Given the description of an element on the screen output the (x, y) to click on. 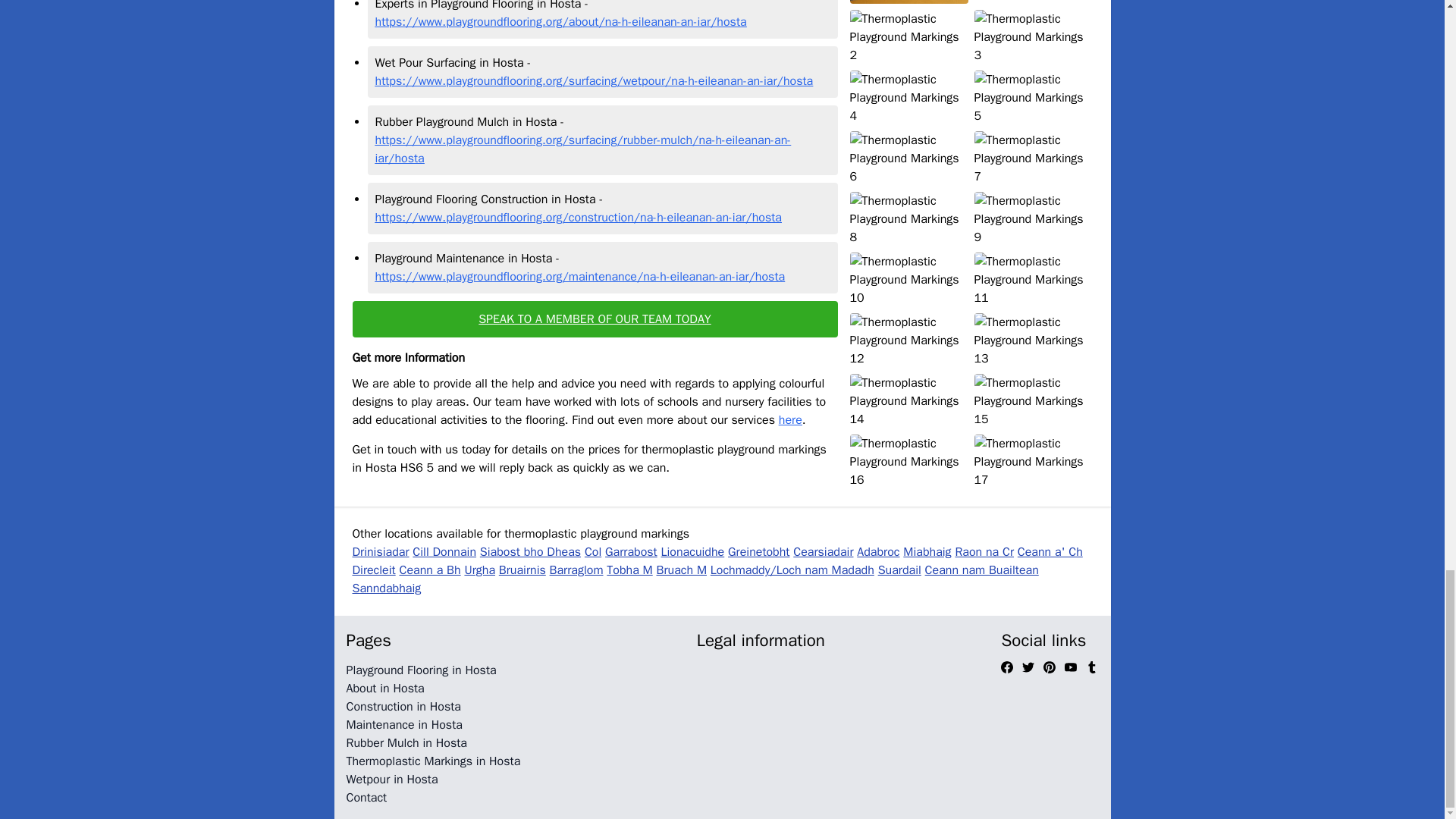
SPEAK TO A MEMBER OF OUR TEAM TODAY (594, 319)
